Given the description of an element on the screen output the (x, y) to click on. 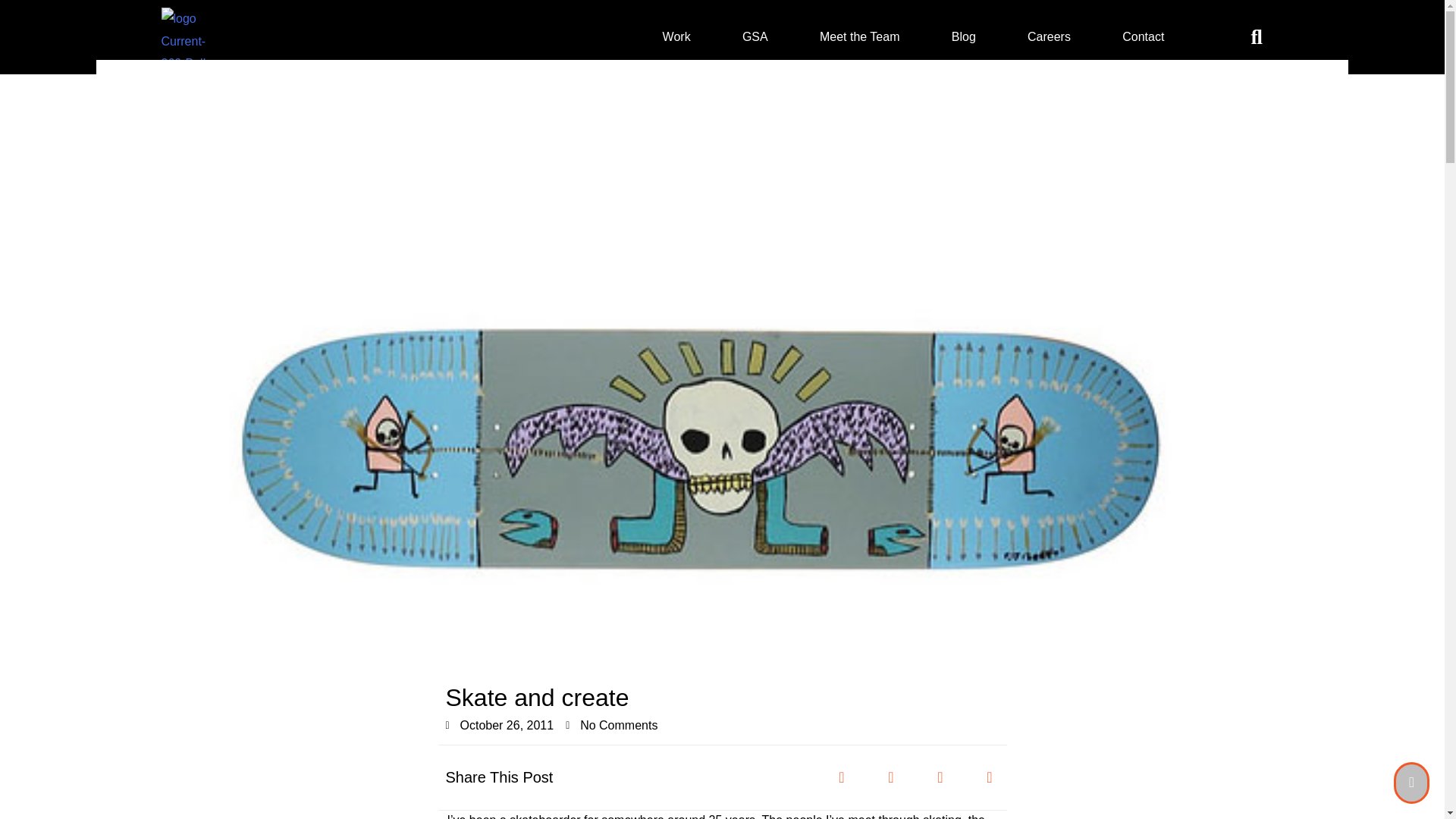
No Comments (612, 725)
Contact (1142, 36)
October 26, 2011 (499, 725)
GSA (754, 36)
Careers (1048, 36)
Meet the Team (859, 36)
Work (676, 36)
Blog (963, 36)
